Given the description of an element on the screen output the (x, y) to click on. 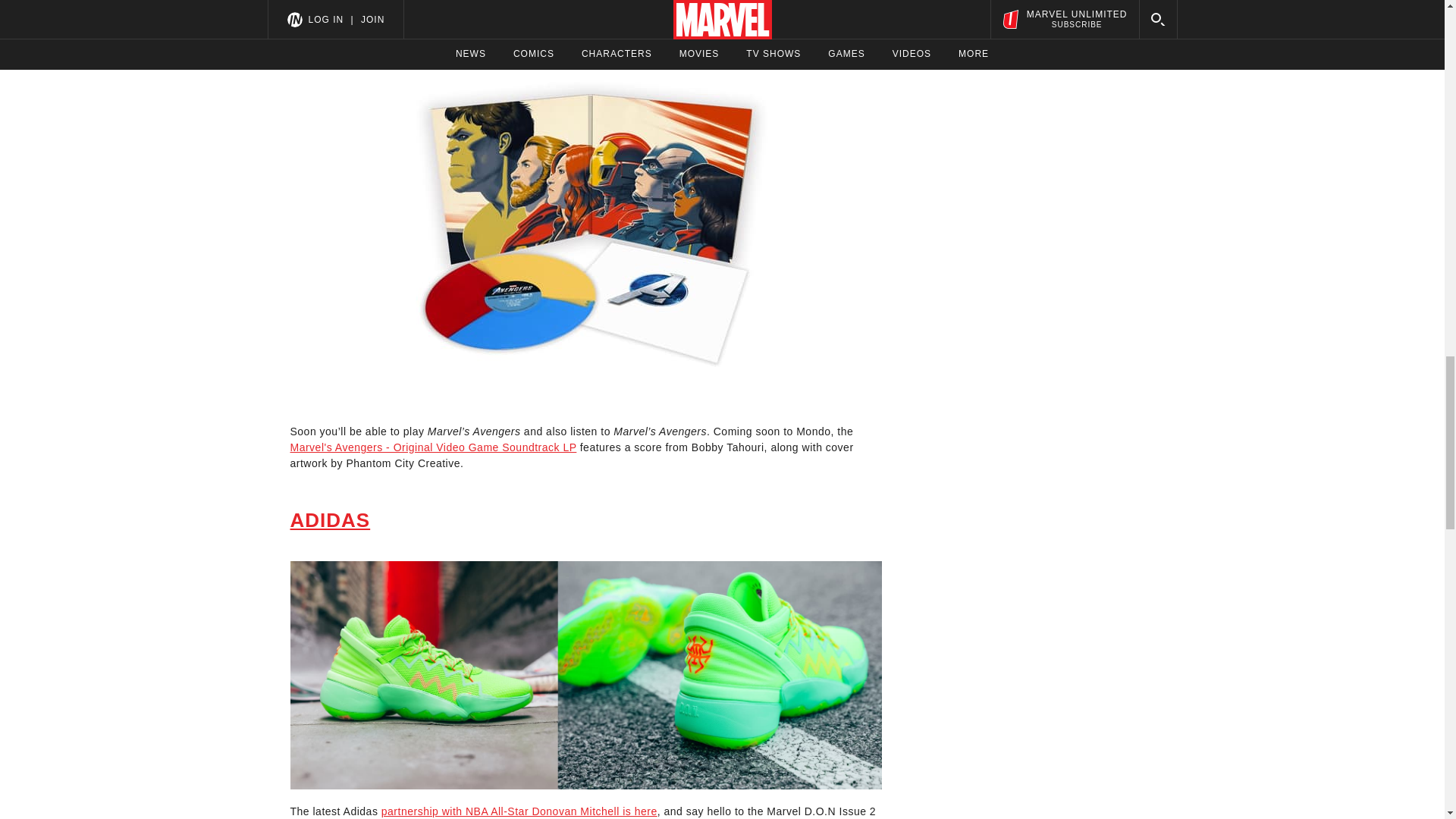
Marvel's Avengers - Original Video Game Soundtrack LP (432, 447)
partnership with NBA All-Star Donovan Mitchell is here (519, 811)
ADIDAS (329, 519)
